Given the description of an element on the screen output the (x, y) to click on. 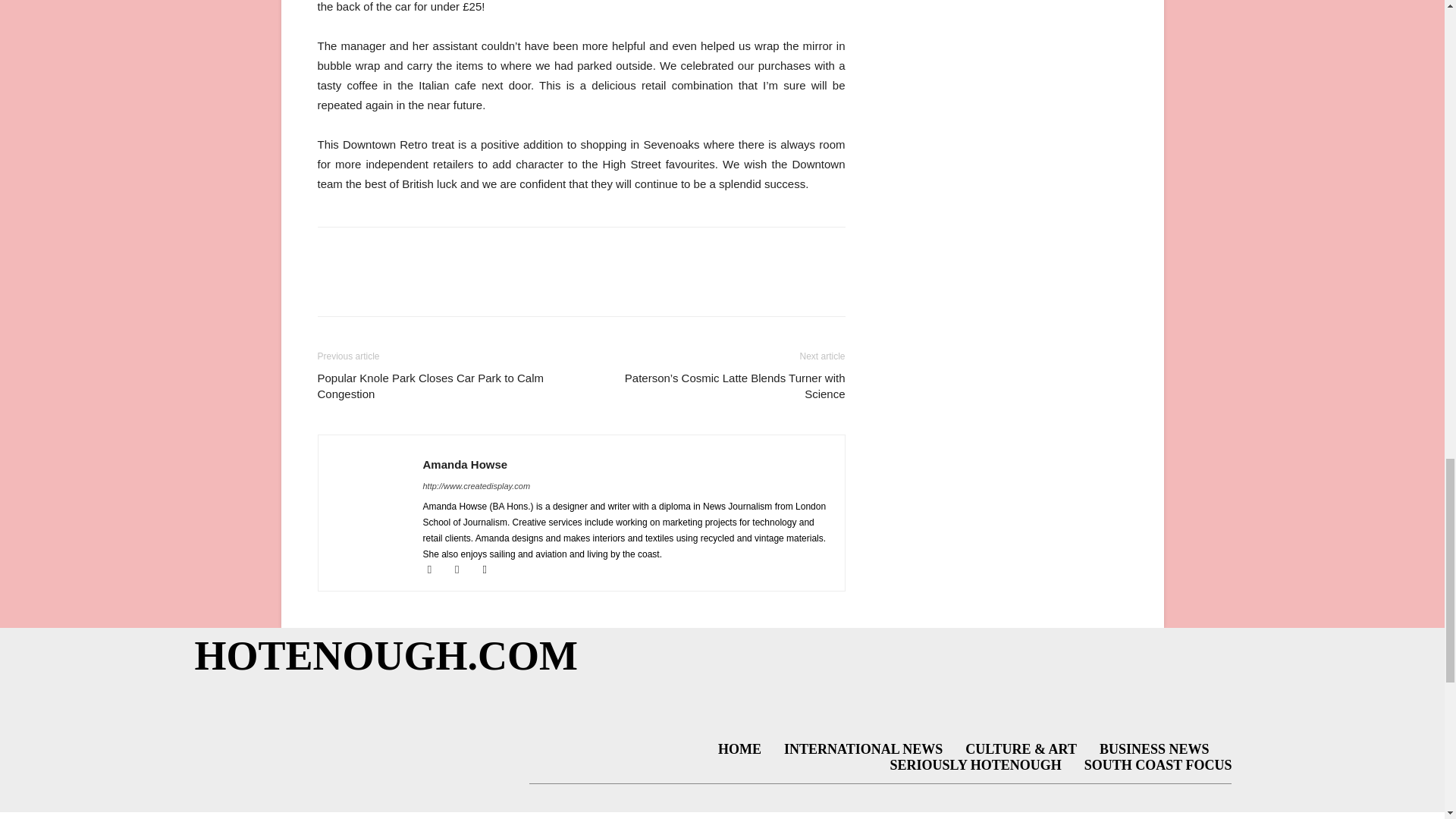
Amanda Howse (465, 463)
HOME (739, 750)
Popular Knole Park Closes Car Park to Calm Congestion (439, 386)
